Given the description of an element on the screen output the (x, y) to click on. 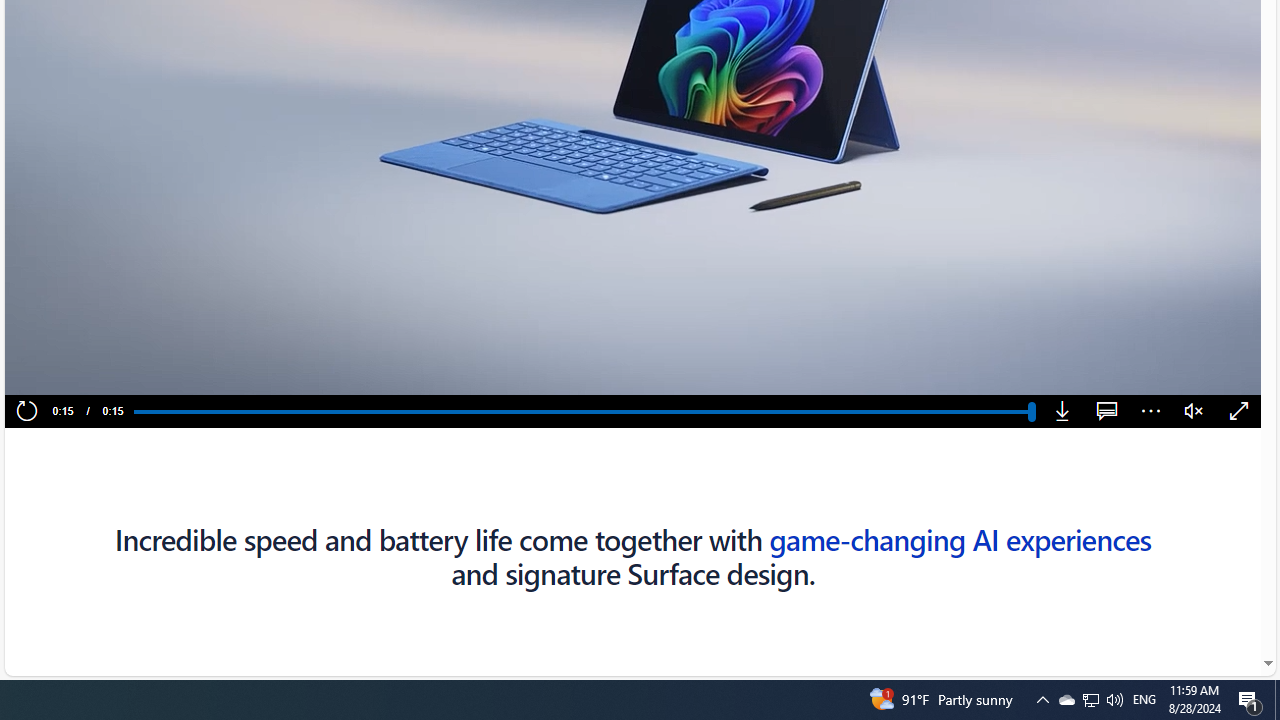
Download (1062, 412)
Replay (26, 412)
Progress Bar (582, 411)
Captions (1106, 412)
Unmute (1194, 412)
Pause (60, 372)
Fullscreen (1238, 412)
AutomationID: pause-svg (61, 372)
